Given the description of an element on the screen output the (x, y) to click on. 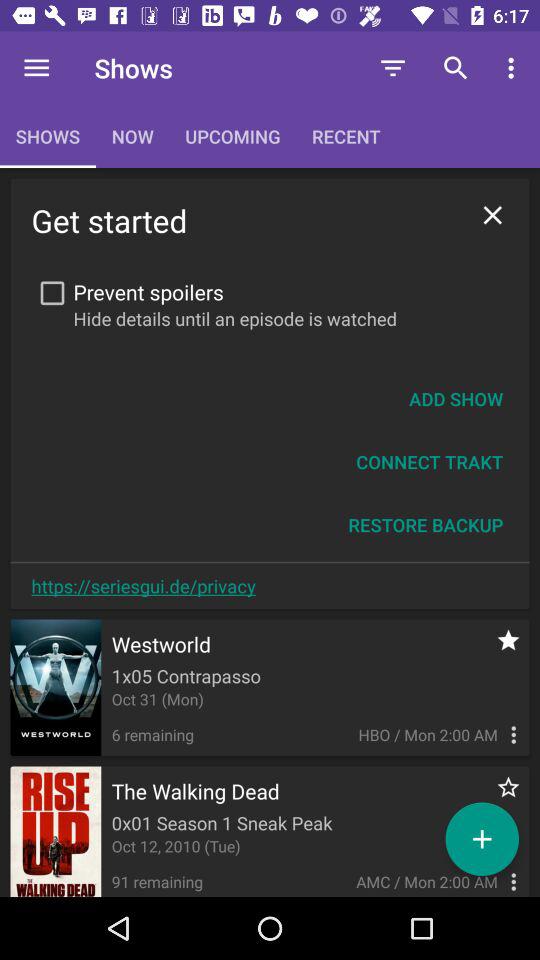
turn off item next to the shows icon (36, 68)
